Given the description of an element on the screen output the (x, y) to click on. 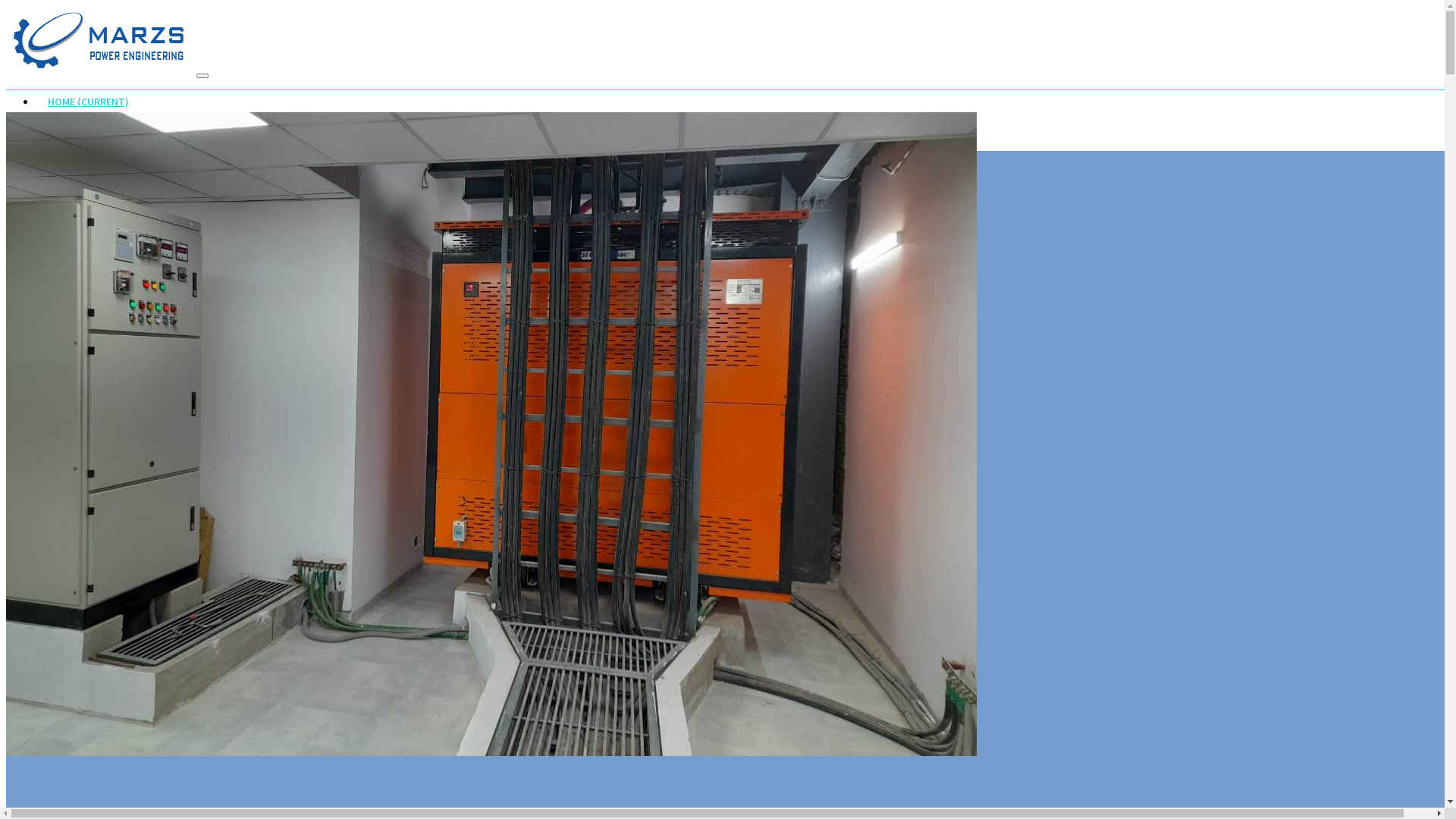
OUR SKILLS Element type: text (74, 131)
CONTACT US Element type: text (77, 161)
OUR MAJOR WORKS Element type: text (93, 146)
HOME (CURRENT) Element type: text (88, 102)
ABOUT US Element type: text (71, 116)
